Given the description of an element on the screen output the (x, y) to click on. 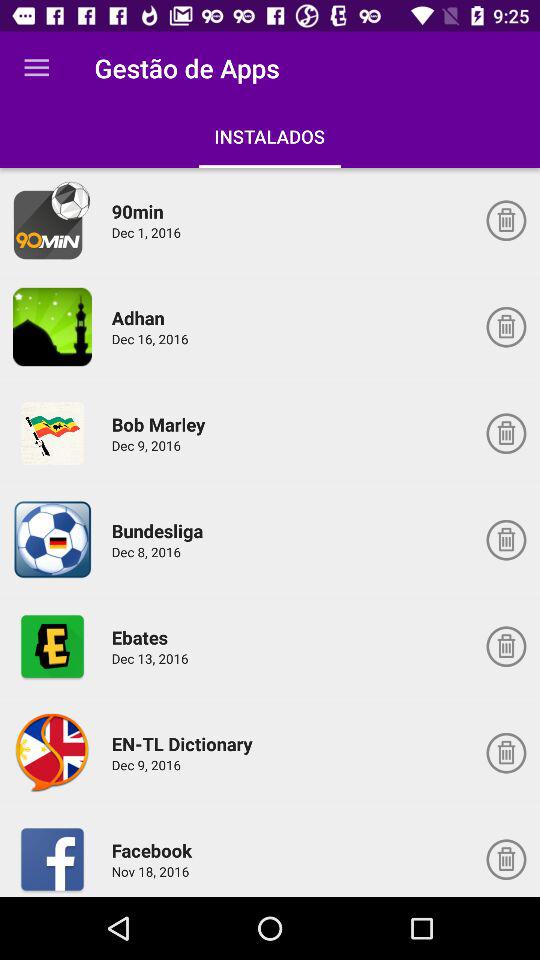
delete (505, 859)
